Given the description of an element on the screen output the (x, y) to click on. 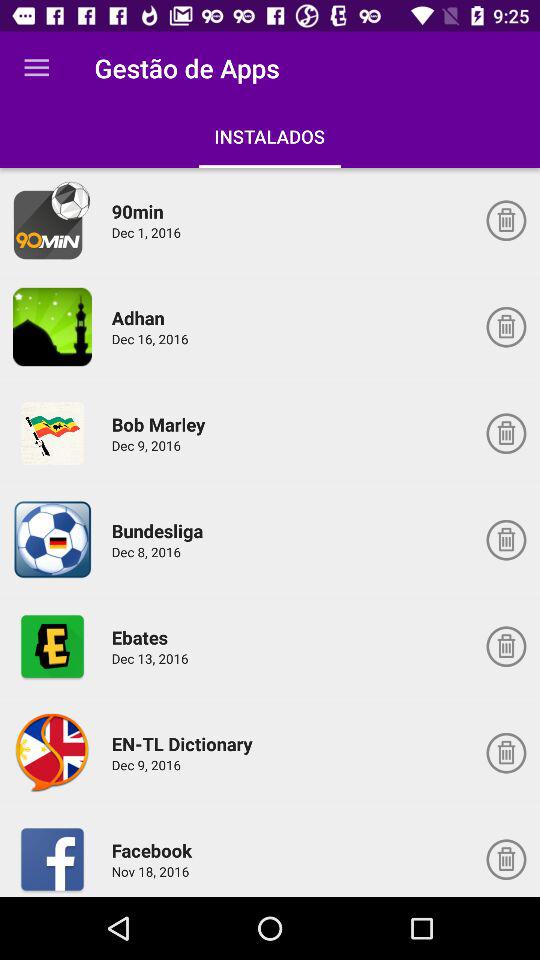
delete (505, 859)
